Given the description of an element on the screen output the (x, y) to click on. 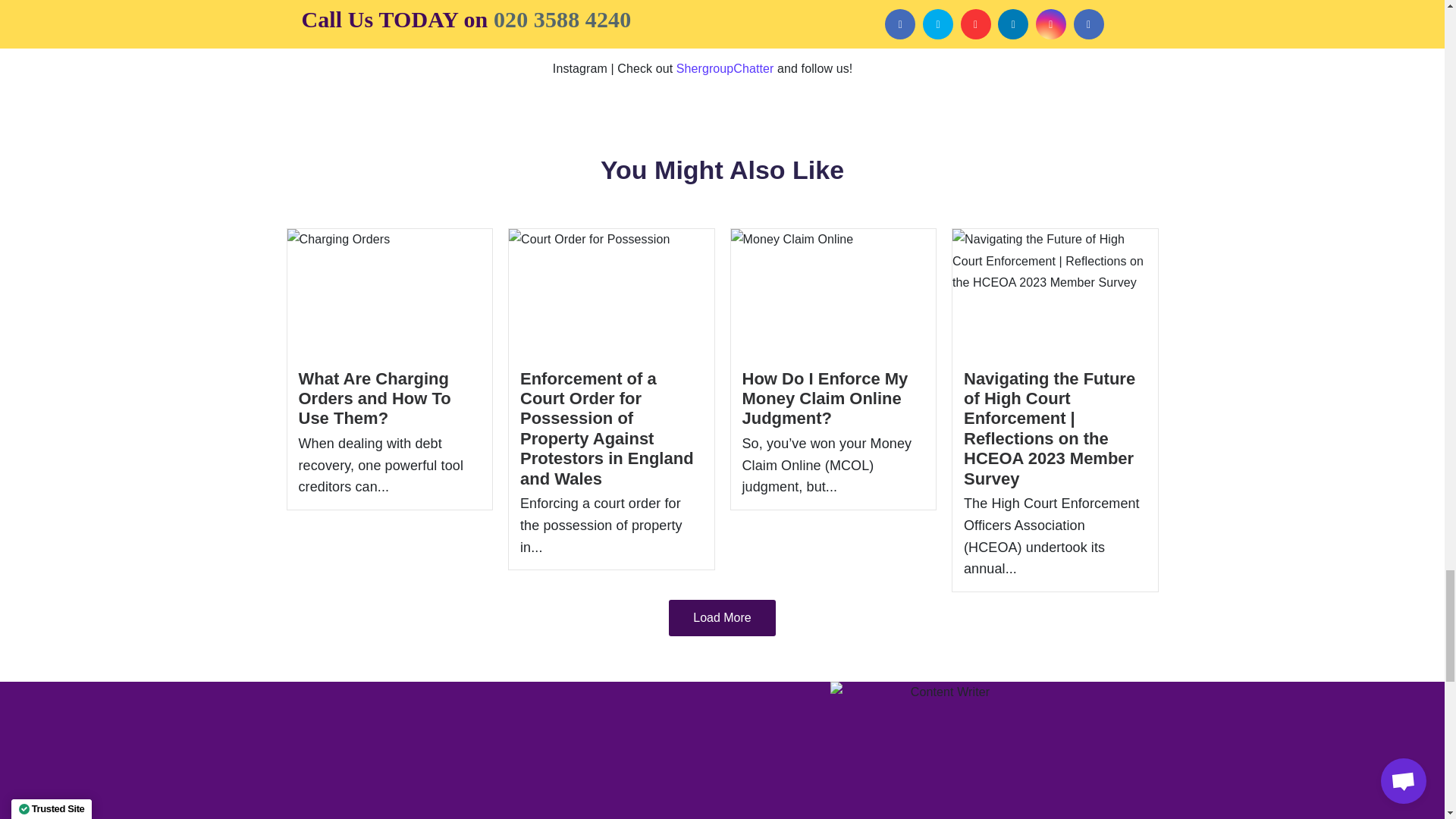
What Are Charging Orders and How To Use Them? (374, 398)
